Given the description of an element on the screen output the (x, y) to click on. 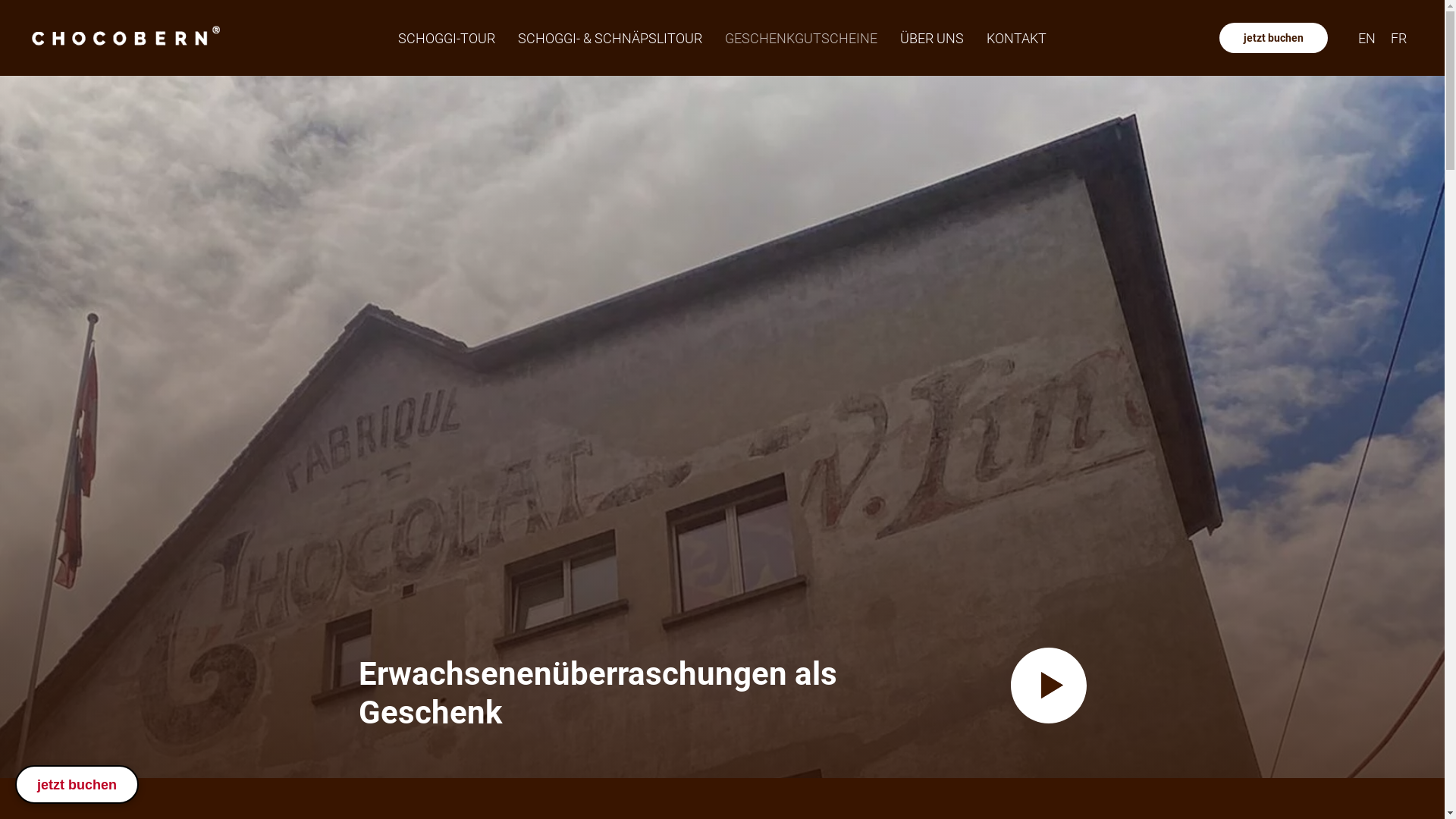
SCHOGGI-TOUR Element type: text (446, 38)
FR Element type: text (1398, 38)
GESCHENKGUTSCHEINE Element type: text (800, 38)
EN Element type: text (1366, 38)
jetzt buchen Element type: text (1273, 37)
KONTAKT Element type: text (1016, 38)
jetzt buchen Element type: text (76, 784)
